Given the description of an element on the screen output the (x, y) to click on. 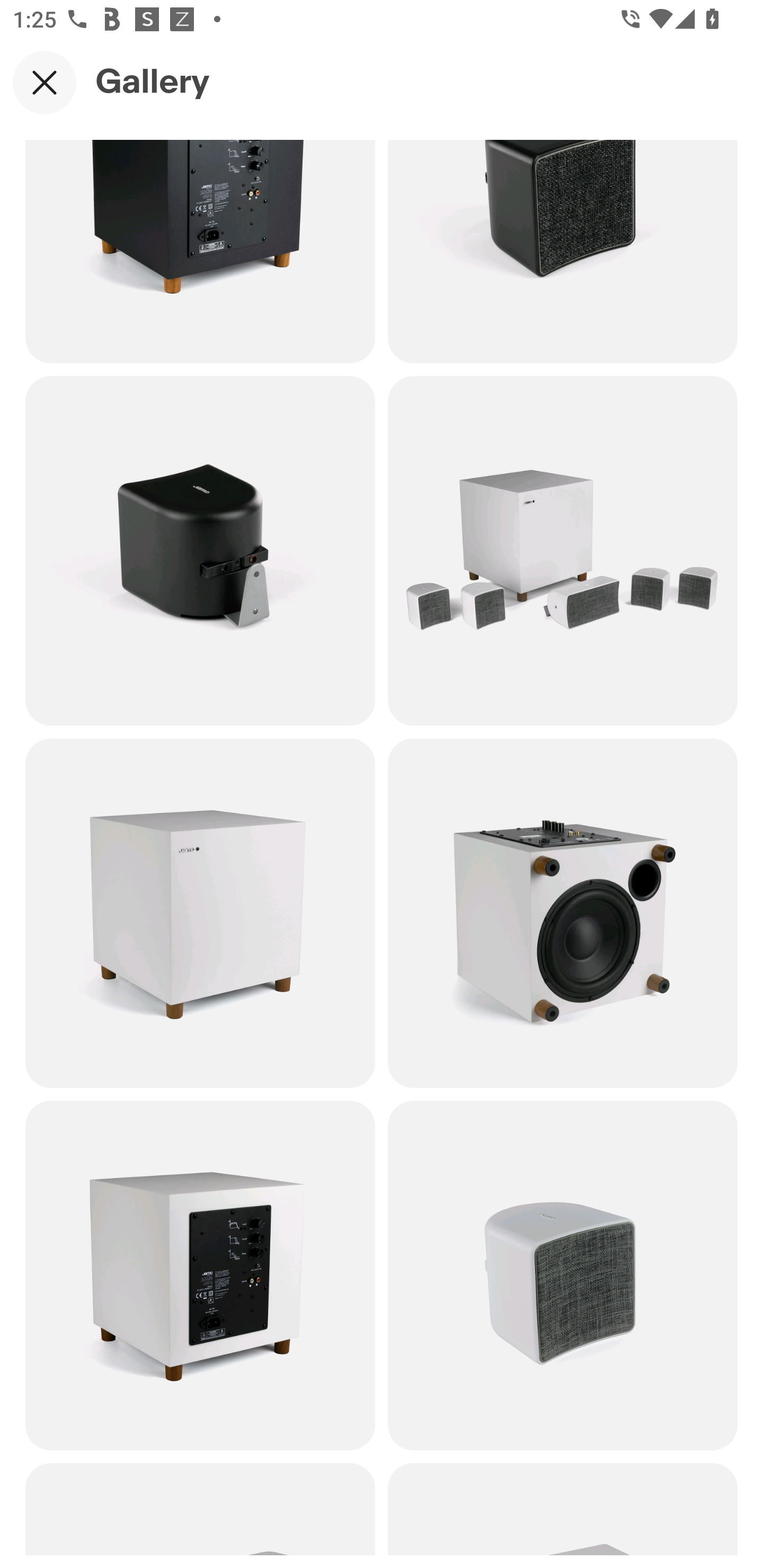
Close (44, 82)
Item image 4 of 13 (200, 251)
Item image 5 of 13 (562, 251)
Item image 6 of 13 (200, 550)
Item image 7 of 13 (562, 550)
Item image 8 of 13 (200, 913)
Item image 9 of 13 (562, 913)
Item image 10 of 13 (200, 1275)
Item image 11 of 13 (562, 1275)
